Given the description of an element on the screen output the (x, y) to click on. 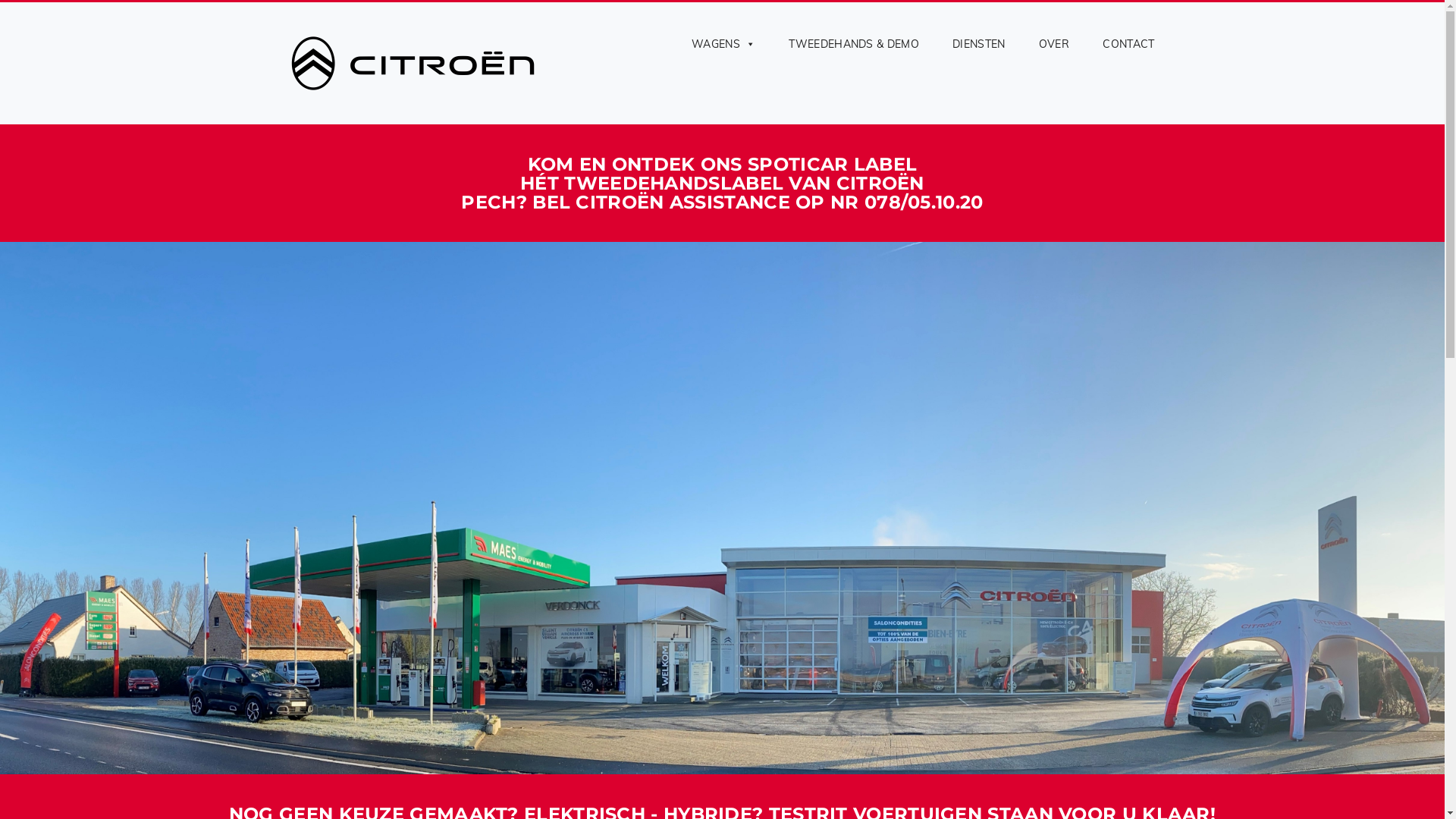
TWEEDEHANDS & DEMO Element type: text (853, 43)
WAGENS Element type: text (723, 43)
DIENSTEN Element type: text (978, 43)
OVER Element type: text (1053, 43)
CONTACT Element type: text (1120, 43)
